Given the description of an element on the screen output the (x, y) to click on. 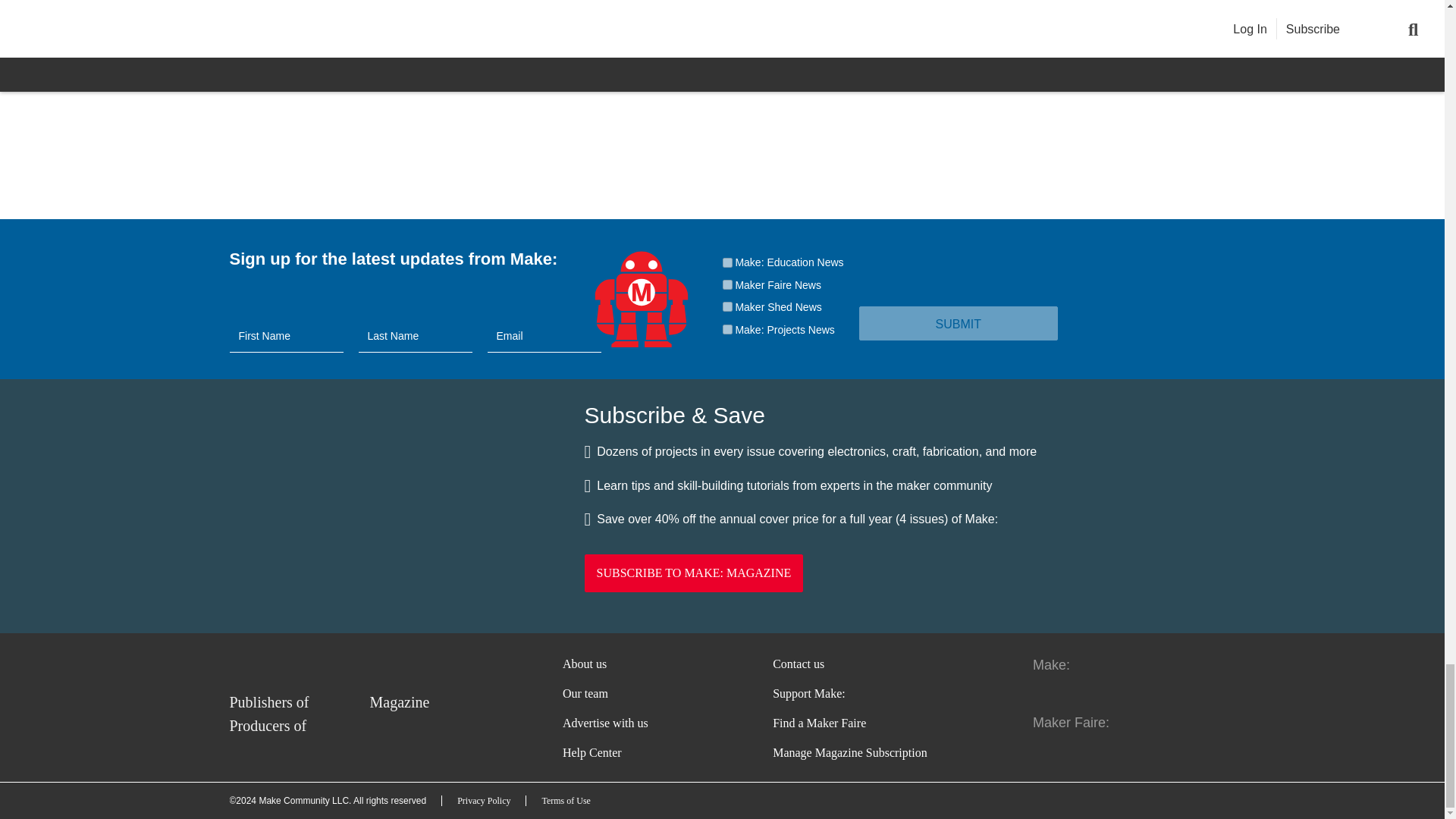
Maker Faire News (727, 284)
Make: Projects News (727, 329)
Maker Shed News (727, 307)
Make: Education News (727, 262)
